Given the description of an element on the screen output the (x, y) to click on. 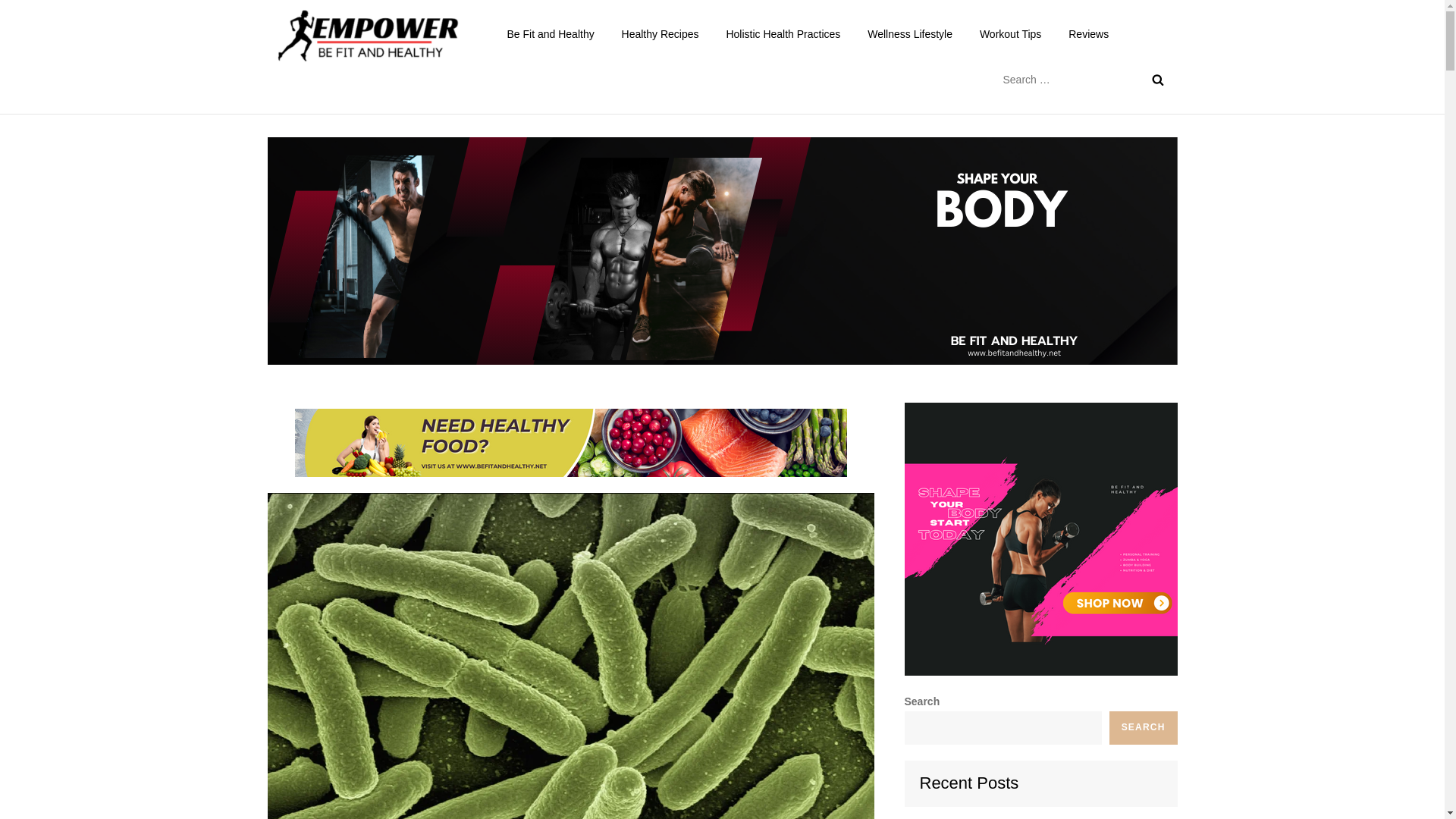
Healthy Recipes (660, 33)
Be Fit and Healthy (550, 33)
Be Fit and Healthy (594, 49)
Reviews (1089, 33)
Wellness Lifestyle (909, 33)
Workout Tips (1010, 33)
Holistic Health Practices (782, 33)
